Given the description of an element on the screen output the (x, y) to click on. 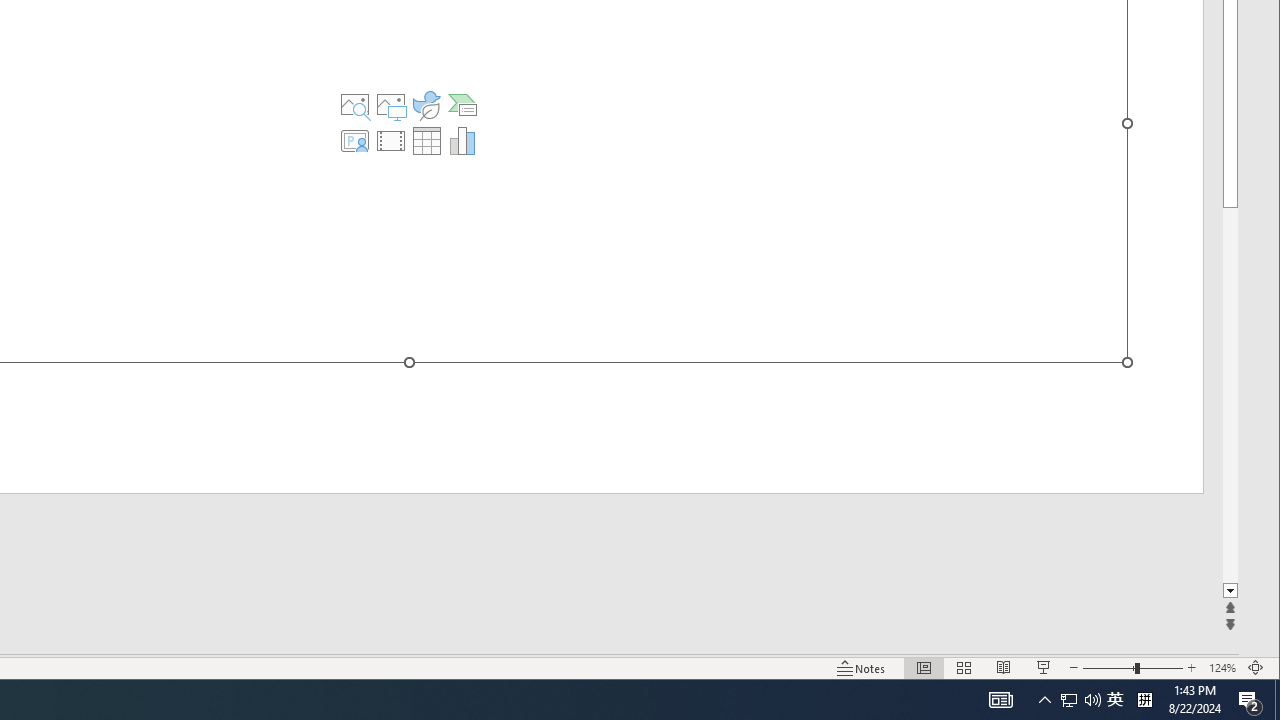
Zoom 124% (1222, 668)
Slide Sorter (964, 668)
User Promoted Notification Area (1080, 699)
Insert an Icon (426, 104)
Show desktop (1277, 699)
Notes  (861, 668)
Normal (923, 668)
Zoom to Fit  (1256, 668)
AutomationID: 4105 (1000, 699)
Slide Show (1043, 668)
Insert a SmartArt Graphic (1069, 699)
Insert Cameo (462, 104)
Insert Chart (355, 140)
Zoom Out (462, 140)
